Given the description of an element on the screen output the (x, y) to click on. 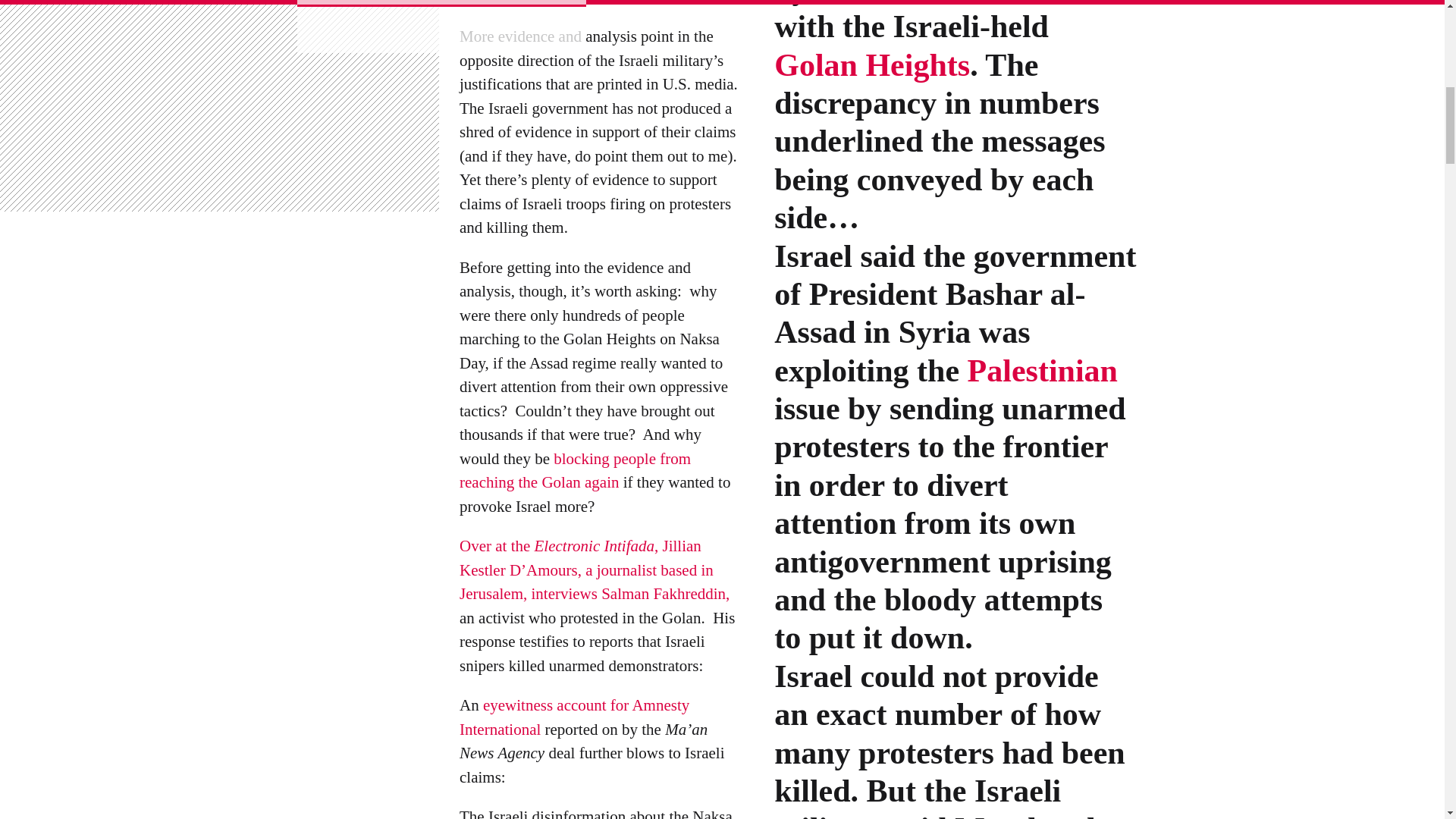
Golan Heights (871, 66)
More articles about Palestinians. (1043, 371)
::More articles about Golan Heights (871, 66)
eyewitness account for Amnesty International (574, 718)
blocking people from reaching the Golan again (575, 471)
Palestinian (1043, 371)
